Given the description of an element on the screen output the (x, y) to click on. 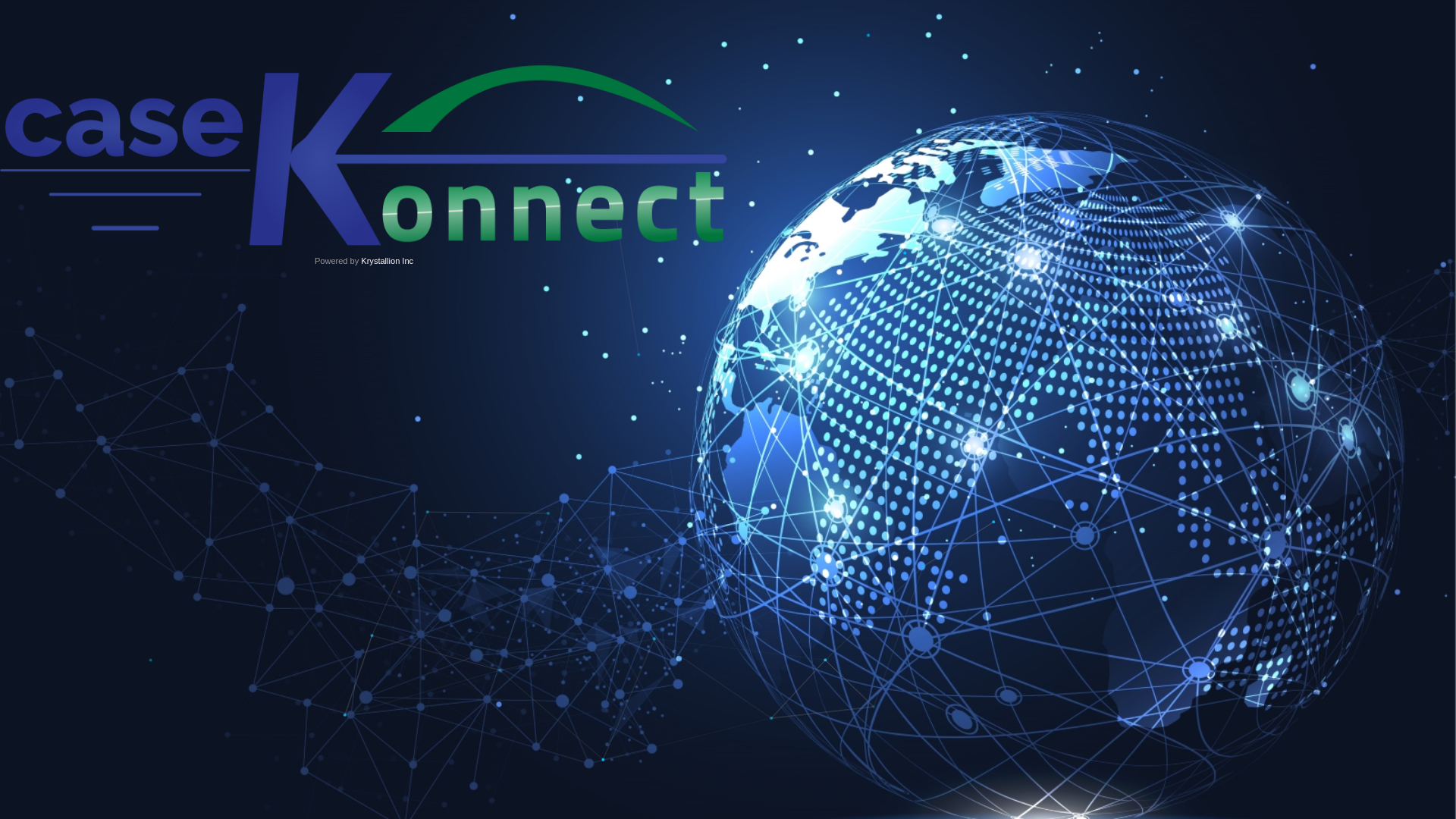
Powered by Krystallion Inc Element type: text (364, 174)
caseKonnect Element type: hover (364, 155)
Krystallion Inc Element type: text (386, 260)
